Given the description of an element on the screen output the (x, y) to click on. 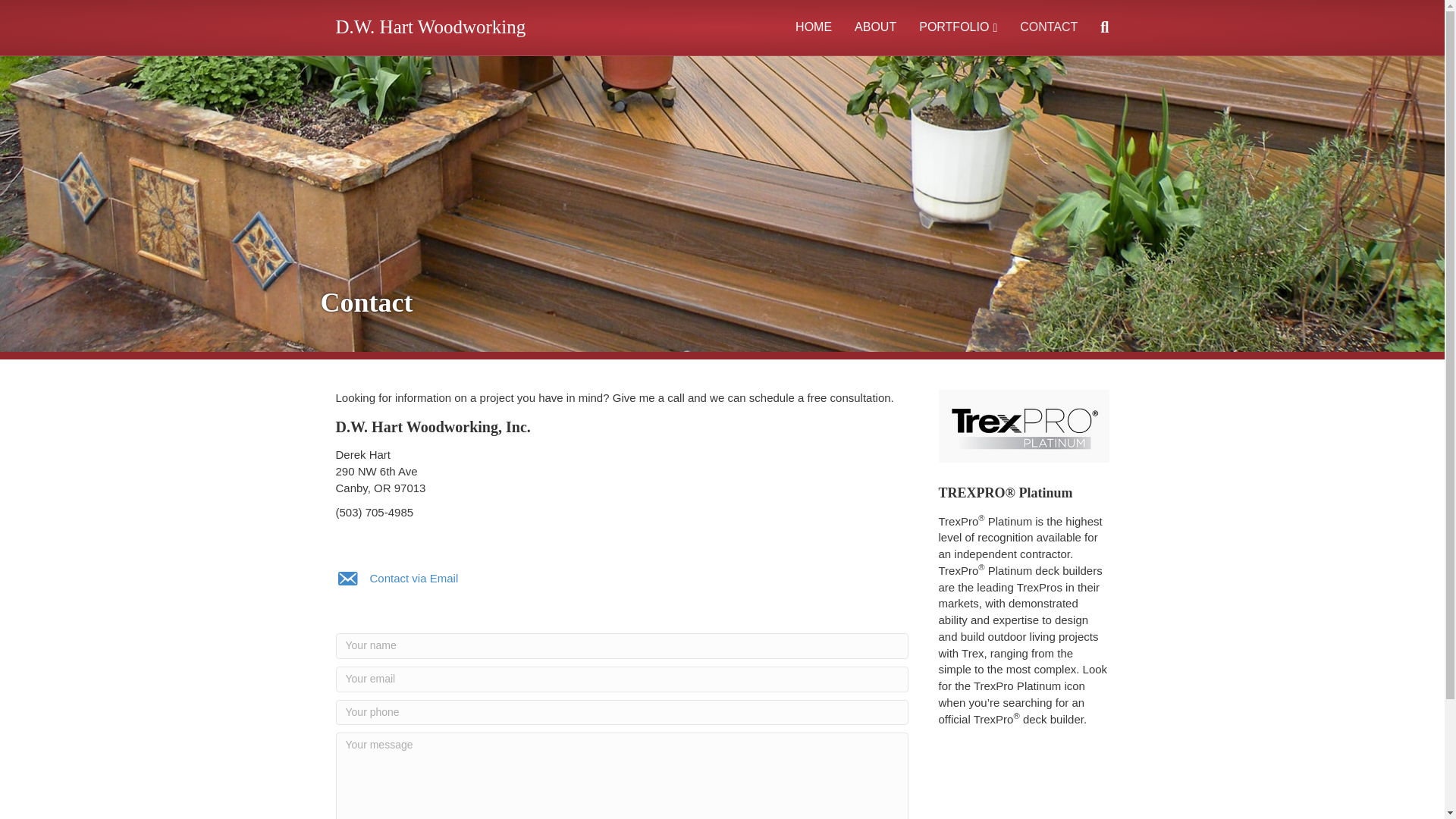
HOME (813, 26)
CONTACT (1049, 26)
trex-pro-platinum-logo (1024, 425)
PORTFOLIO (958, 27)
D.W. Hart Woodworking (457, 26)
Contact via Email (413, 578)
ABOUT (875, 26)
